Given the description of an element on the screen output the (x, y) to click on. 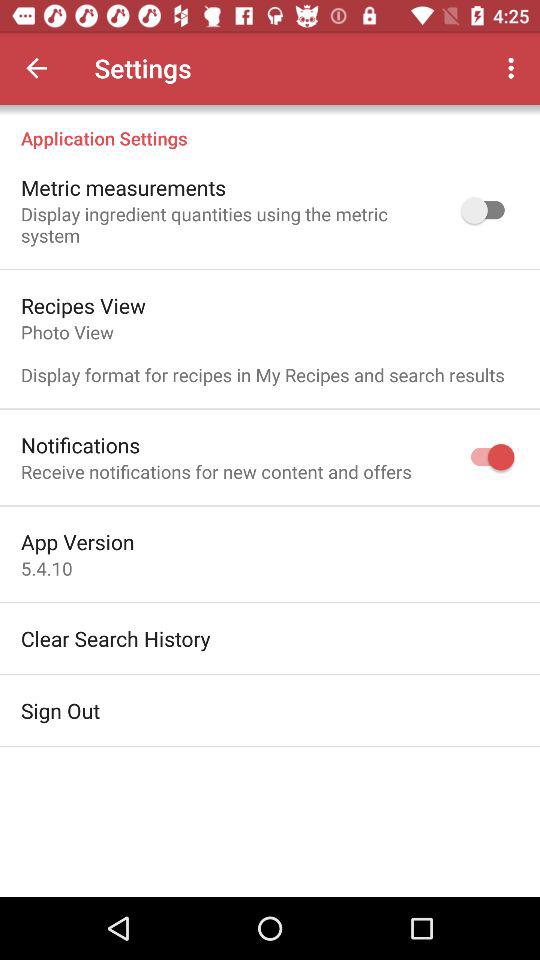
turn off item above the 5.4.10 item (77, 541)
